Given the description of an element on the screen output the (x, y) to click on. 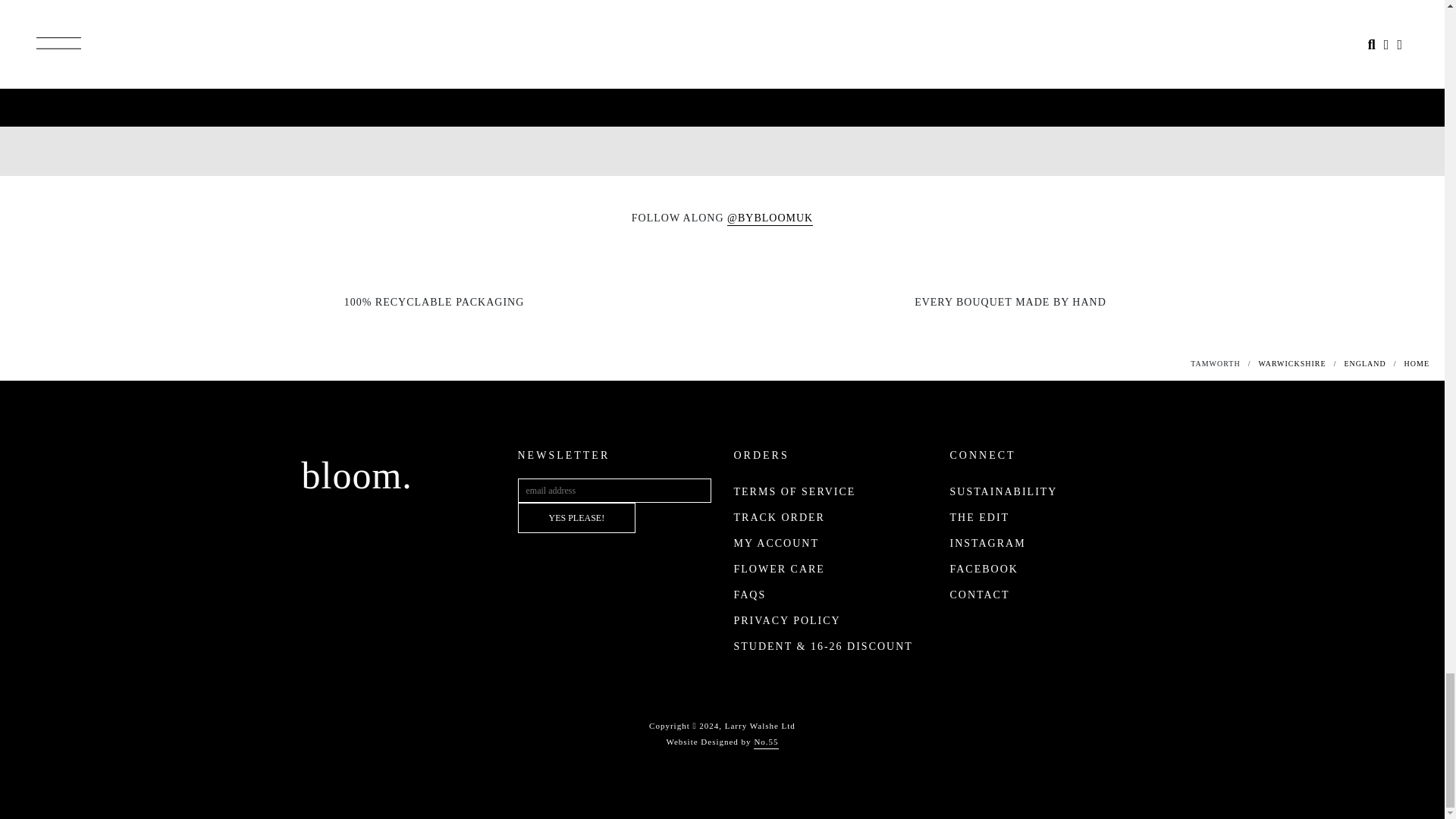
YES PLEASE! (575, 517)
